Given the description of an element on the screen output the (x, y) to click on. 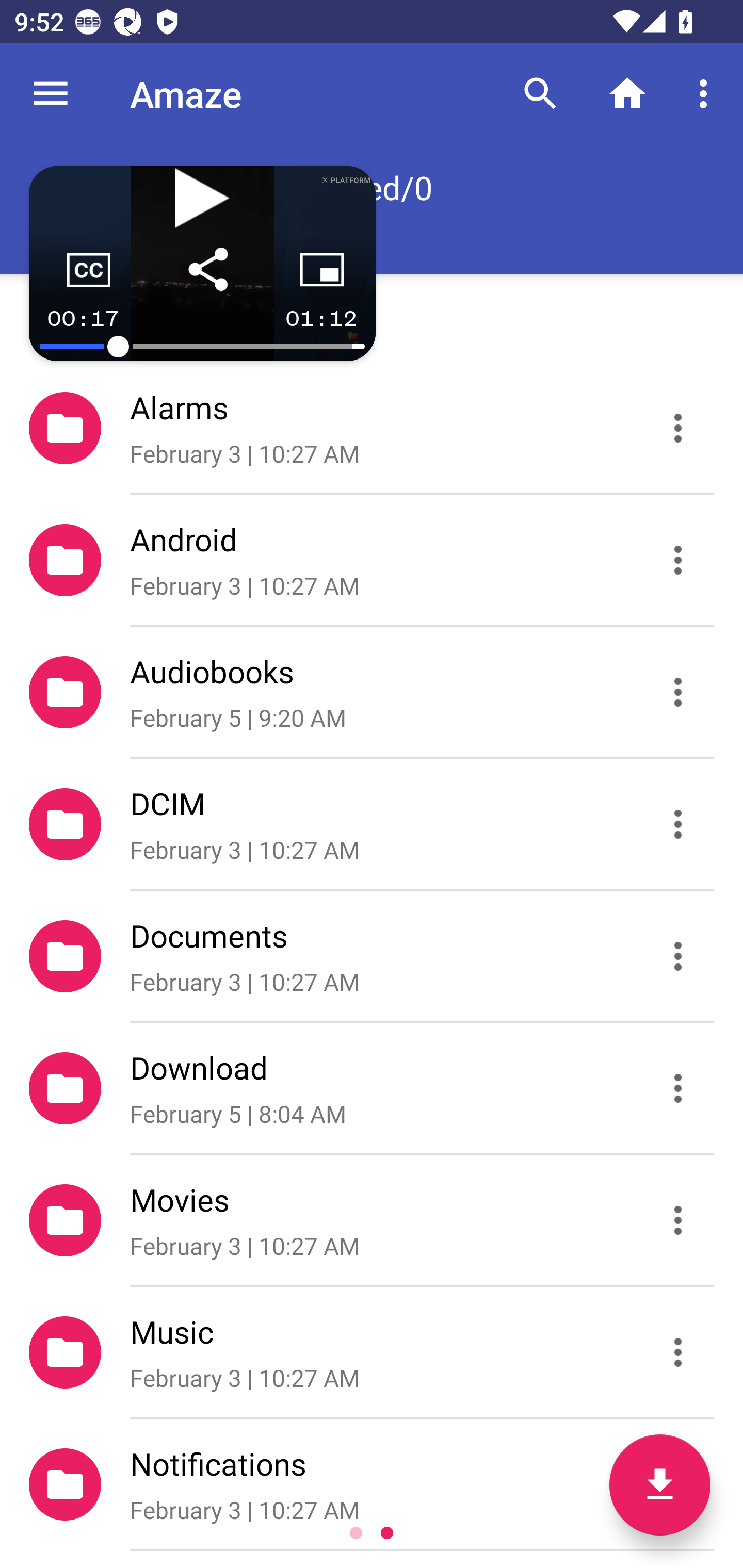
Navigate up (50, 93)
Search (540, 93)
Home (626, 93)
More options (706, 93)
Alarms February 3 | 10:27 AM (371, 427)
Android February 3 | 10:27 AM (371, 560)
Audiobooks February 5 | 9:20 AM (371, 692)
DCIM February 3 | 10:27 AM (371, 823)
Documents February 3 | 10:27 AM (371, 955)
Download February 5 | 8:04 AM (371, 1088)
Movies February 3 | 10:27 AM (371, 1220)
Music February 3 | 10:27 AM (371, 1352)
Notifications February 3 | 10:27 AM (371, 1484)
